Given the description of an element on the screen output the (x, y) to click on. 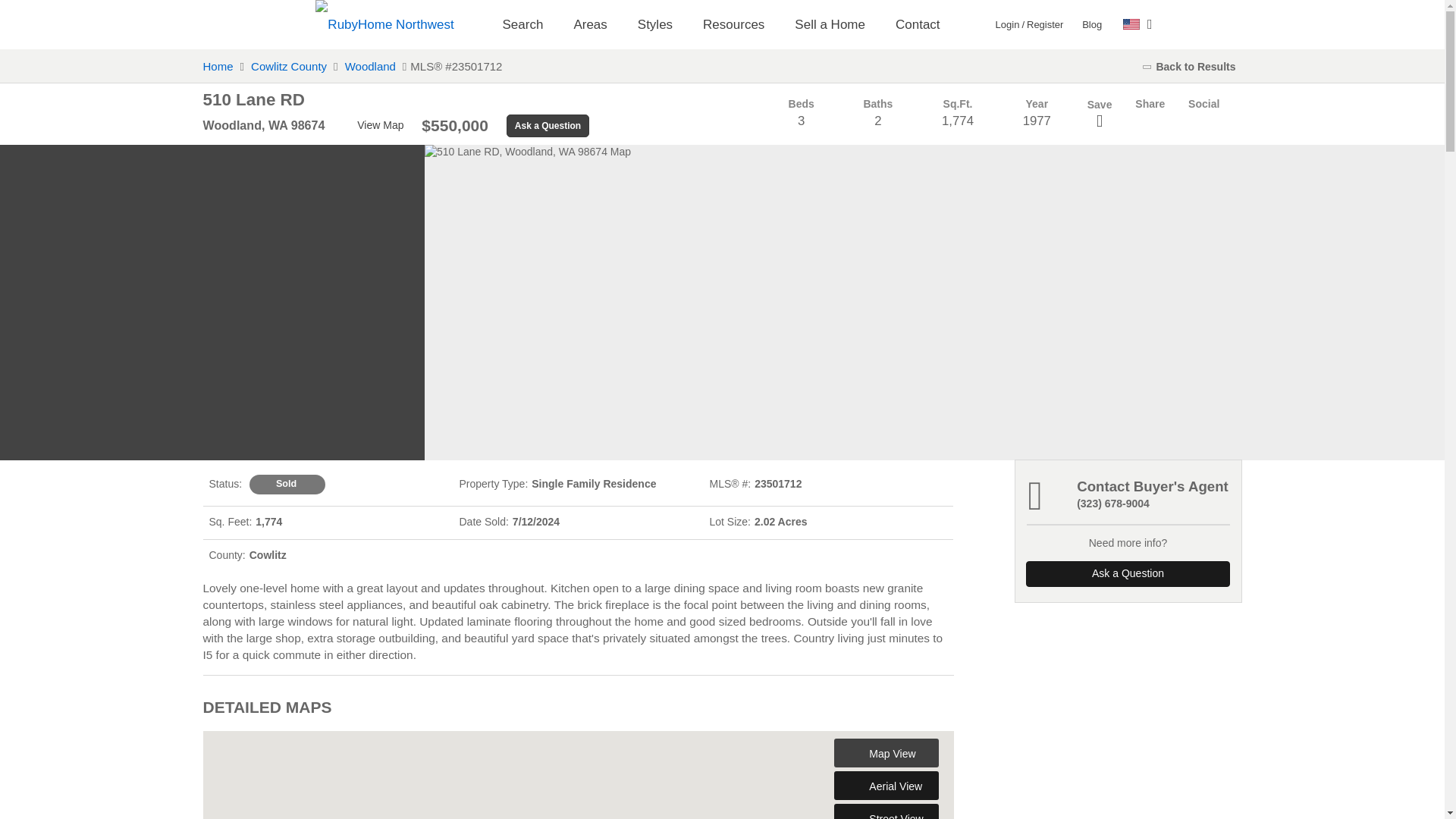
View Map (372, 125)
Resources (732, 24)
Styles (655, 24)
Areas (589, 24)
Search (521, 24)
Select Language (1137, 24)
Sell a Home (829, 24)
Contact (917, 24)
